Given the description of an element on the screen output the (x, y) to click on. 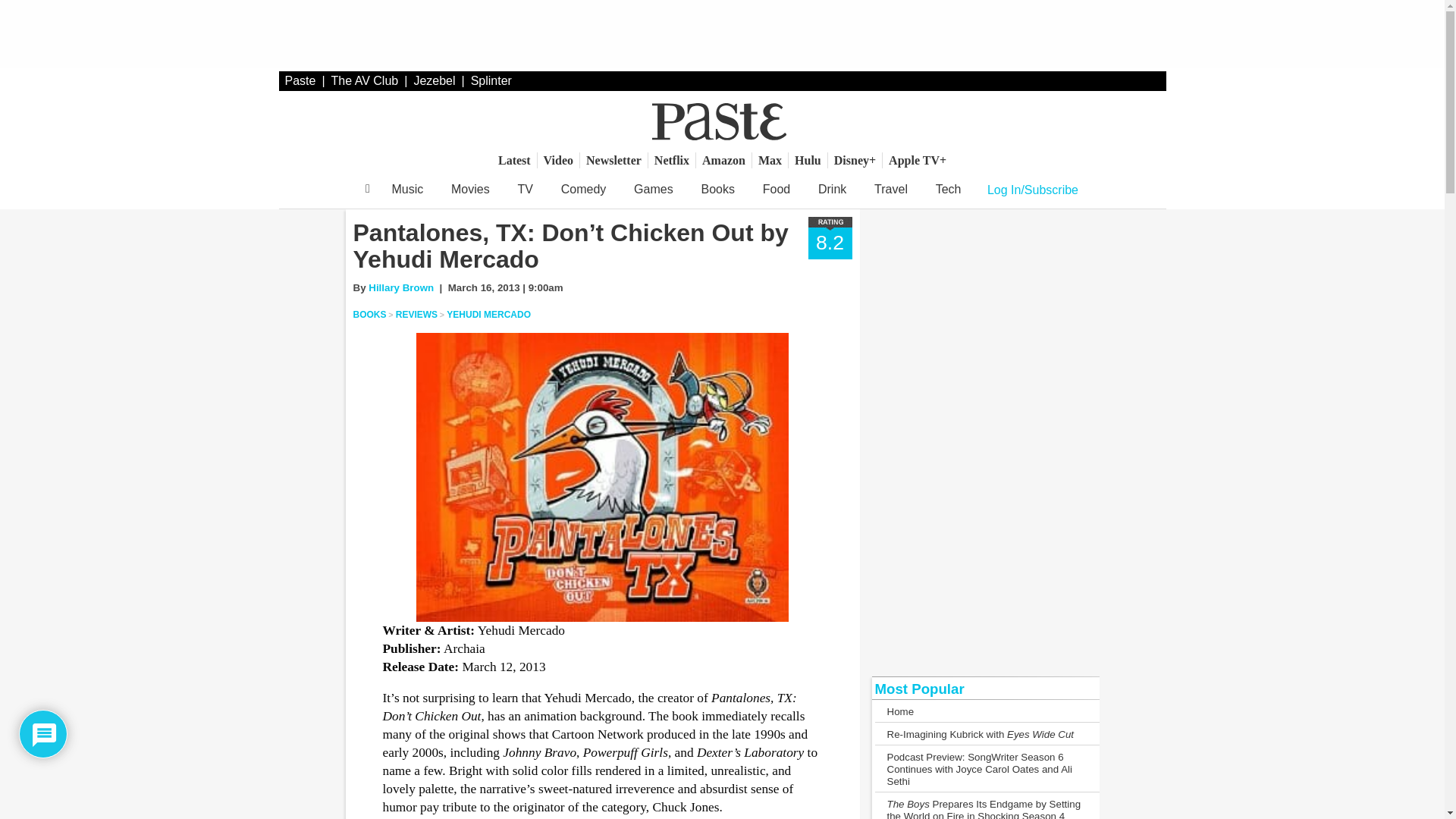
Newsletter (613, 160)
Max (769, 160)
Paste (300, 80)
The AV Club (364, 80)
Netflix (671, 160)
Splinter (491, 80)
Video (558, 160)
Latest (514, 160)
Hulu (808, 160)
Amazon (723, 160)
Jezebel (433, 80)
